Given the description of an element on the screen output the (x, y) to click on. 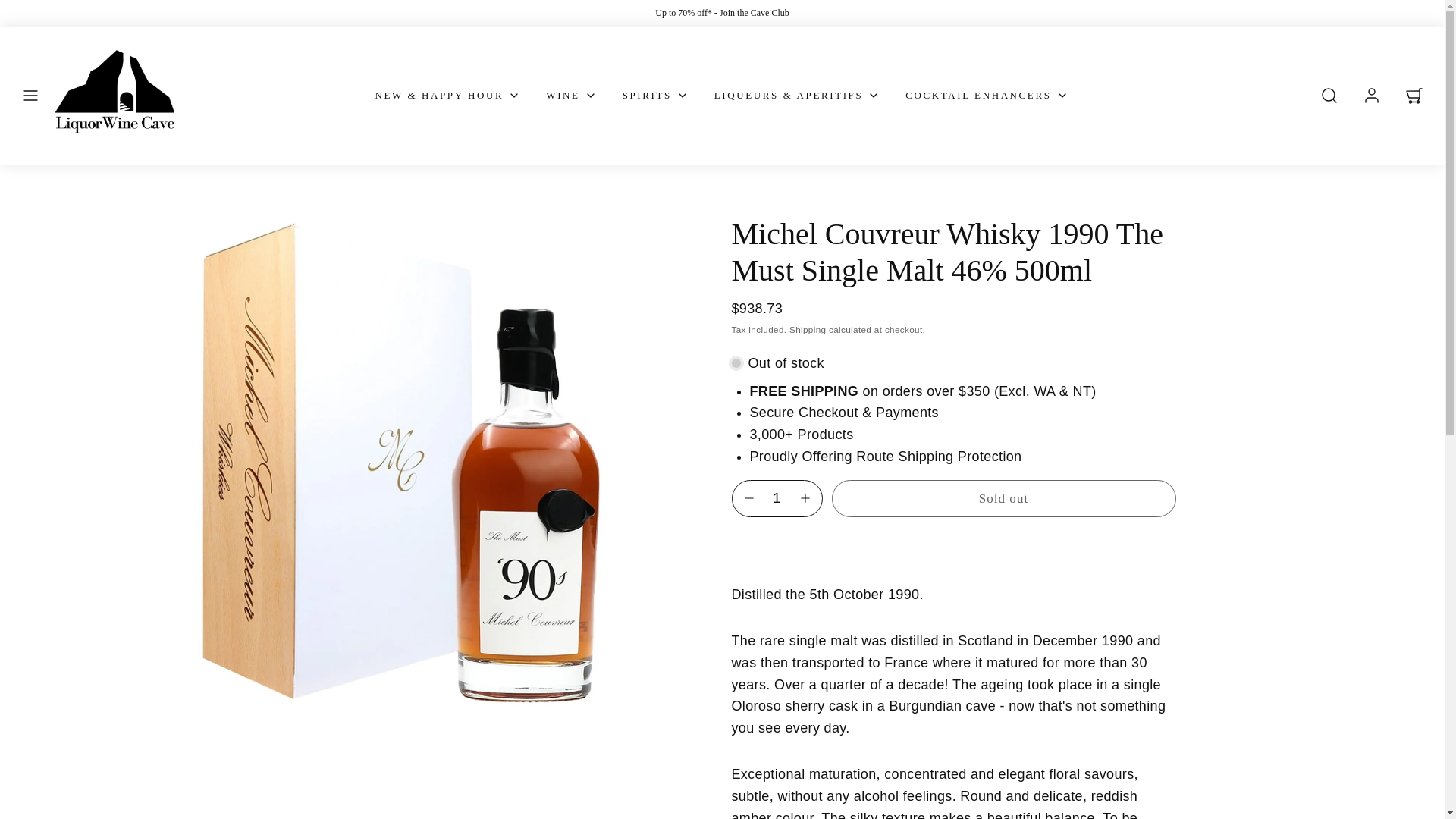
SEARCH (1329, 94)
MENU (29, 94)
Cave Club (770, 12)
SPIRITS (655, 95)
Cave Club (770, 12)
ACCOUNT (1372, 94)
COCKTAIL ENHANCERS (987, 95)
WINE (572, 95)
